Given the description of an element on the screen output the (x, y) to click on. 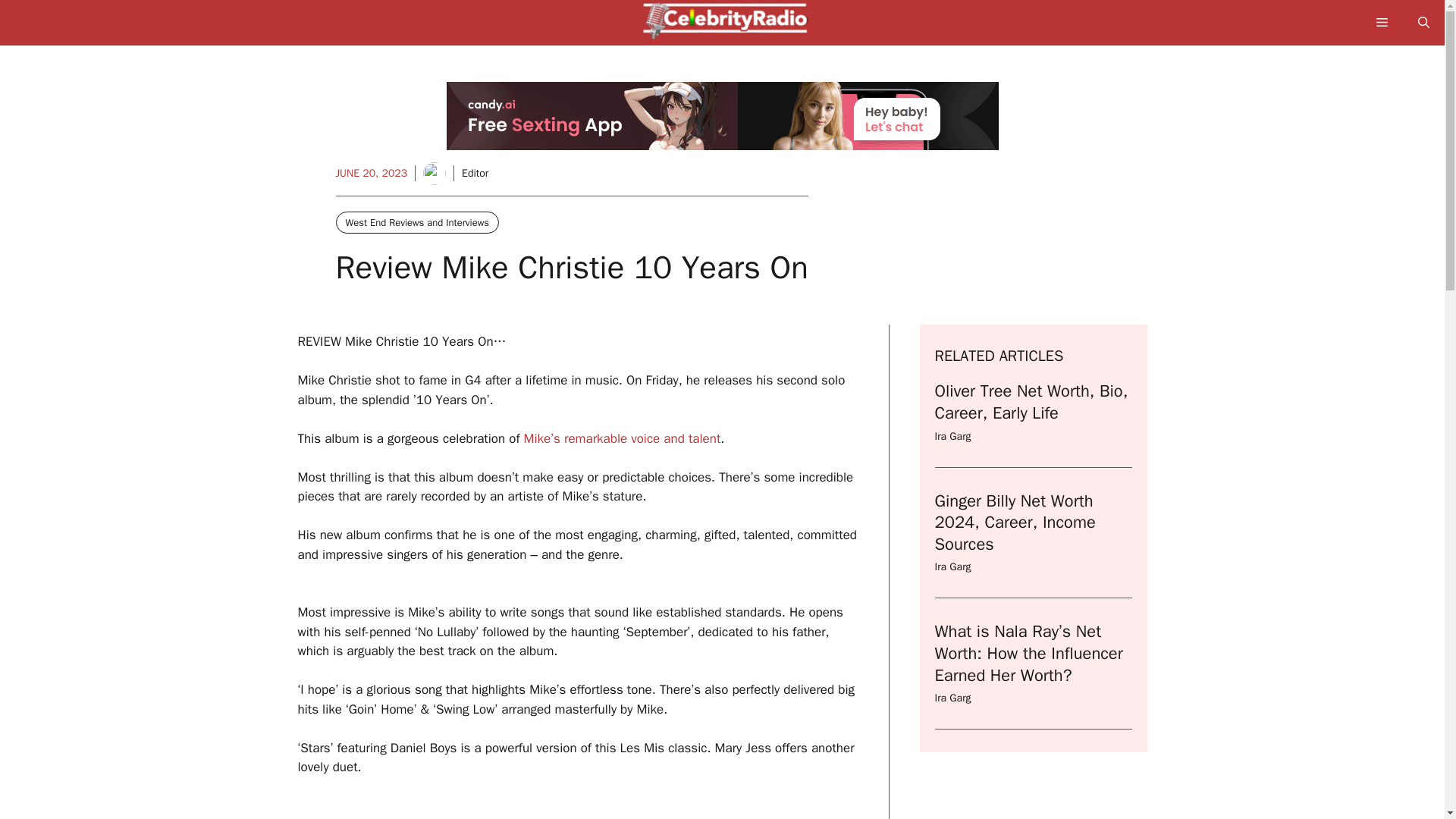
Ira Garg (952, 697)
West End Reviews and Interviews (416, 221)
Editor (474, 172)
Ginger Billy Net Worth 2024, Career, Income Sources (1014, 522)
Ira Garg (952, 566)
Ira Garg (952, 436)
CelebrityRadio (729, 26)
Oliver Tree Net Worth, Bio, Career, Early Life (1030, 402)
